Given the description of an element on the screen output the (x, y) to click on. 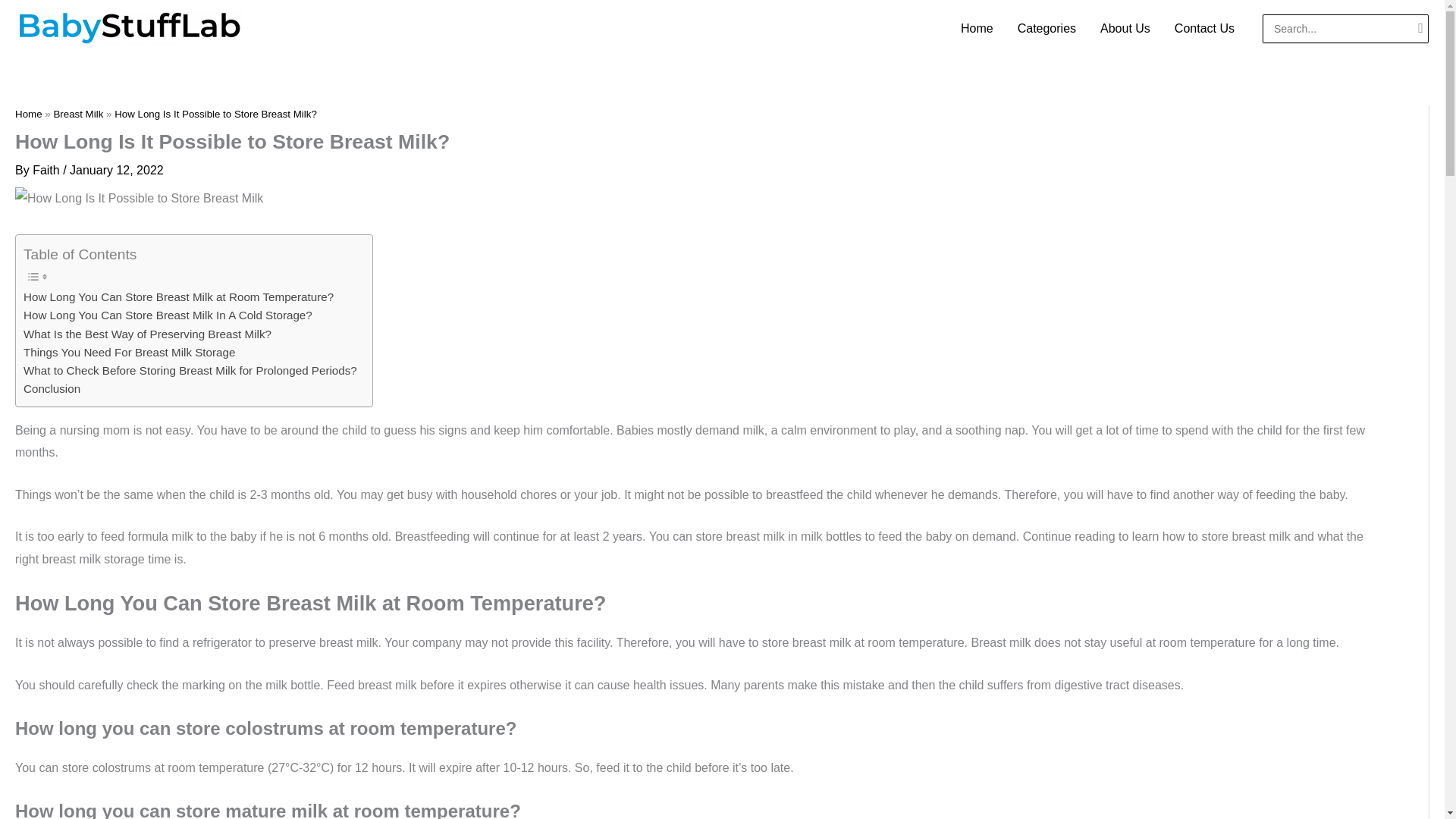
What Is the Best Way of Preserving Breast Milk? (146, 334)
Breast Milk (77, 113)
How Long You Can Store Breast Milk at Room Temperature? (178, 297)
How Long You Can Store Breast Milk In A Cold Storage? (168, 315)
Things You Need For Breast Milk Storage (128, 352)
How Long You Can Store Breast Milk In A Cold Storage? (168, 315)
Conclusion (51, 389)
What Is the Best Way of Preserving Breast Milk? (146, 334)
How Long Is It Possible To Store Breast Milk? 3 (138, 198)
Things You Need For Breast Milk Storage (128, 352)
How Long You Can Store Breast Milk at Room Temperature? (178, 297)
Faith (47, 169)
About Us (1124, 27)
